Given the description of an element on the screen output the (x, y) to click on. 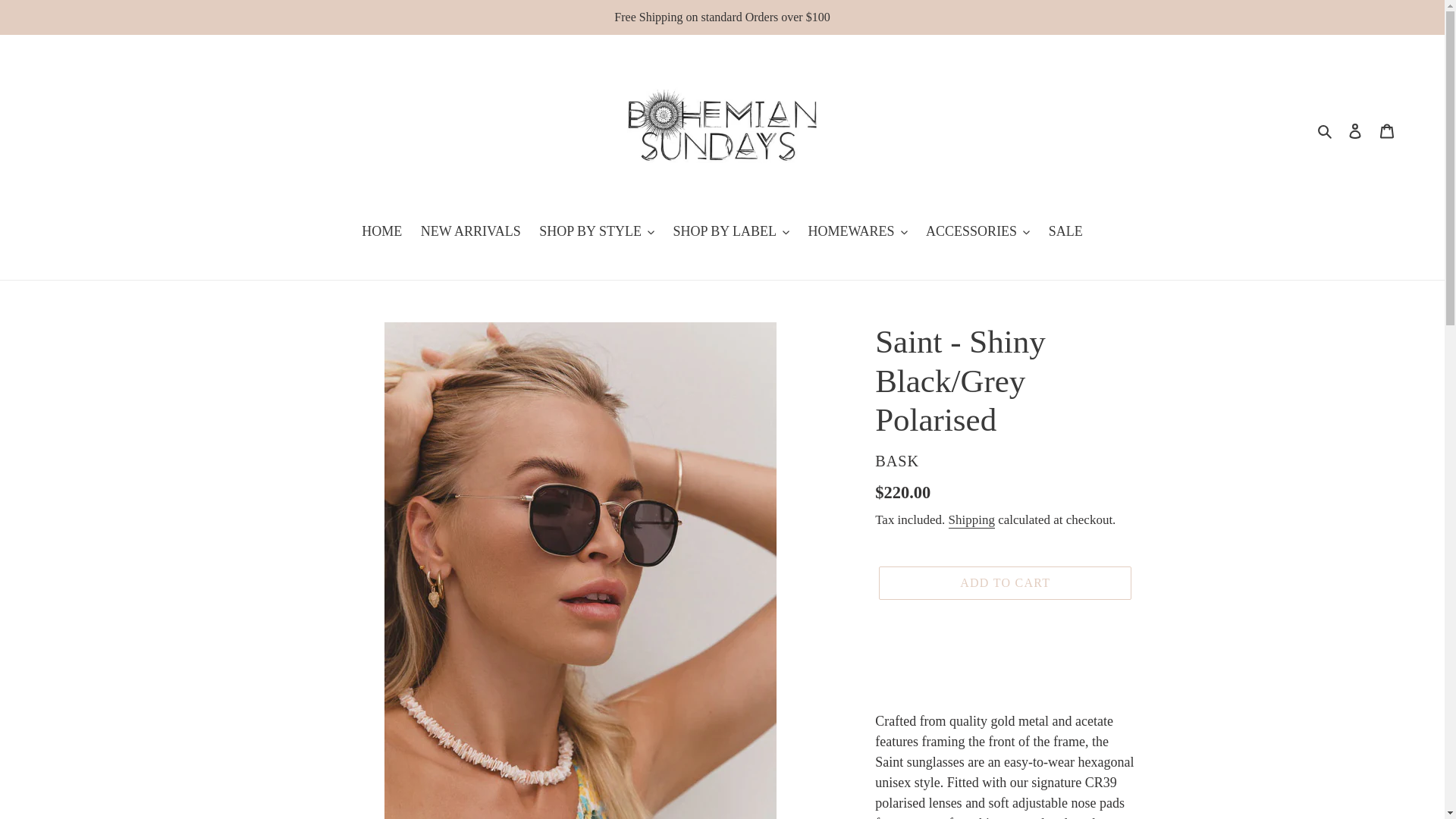
Cart (1387, 130)
Search (1326, 129)
Log in (1355, 130)
